Given the description of an element on the screen output the (x, y) to click on. 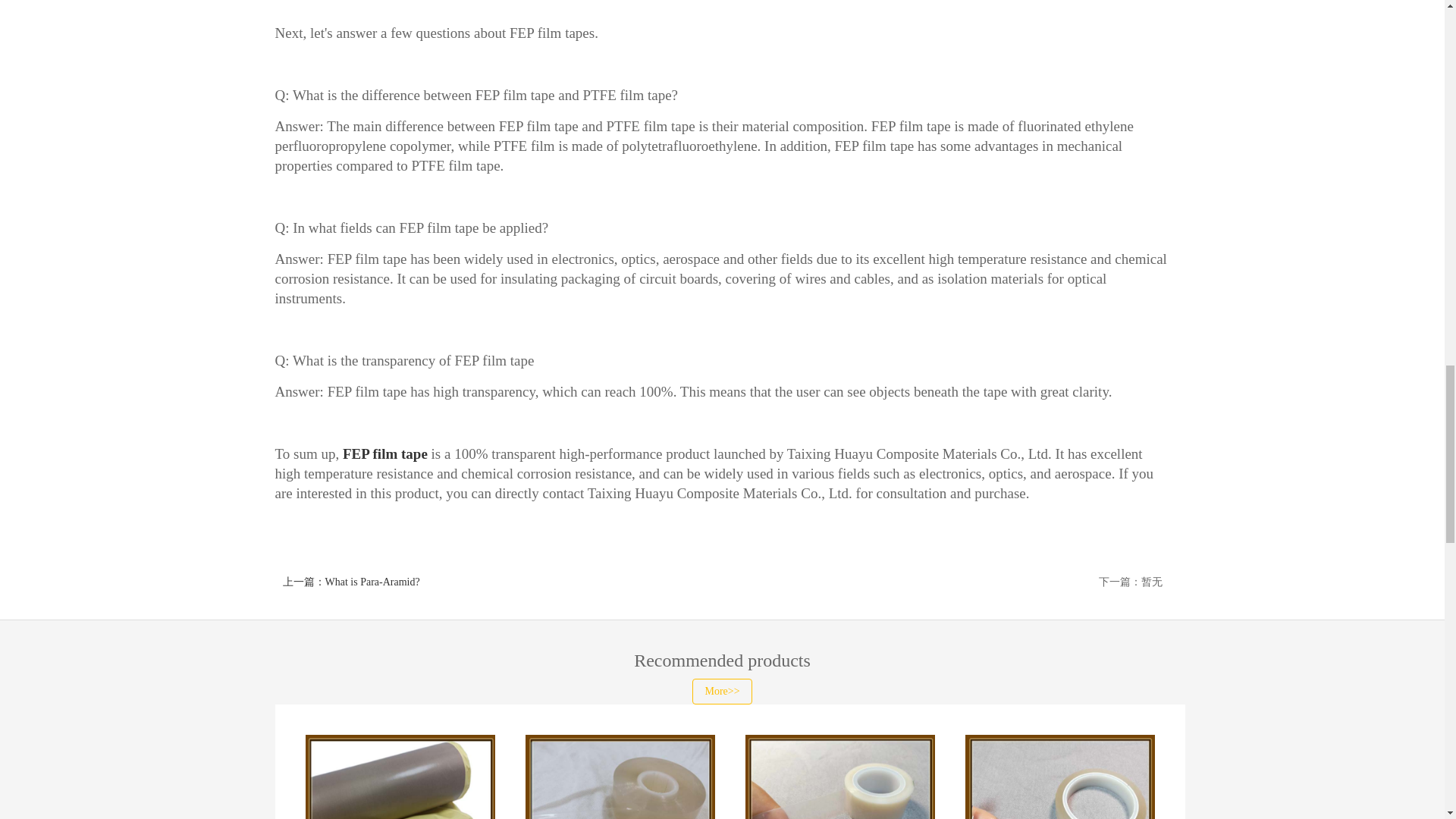
FEP TAPE (385, 453)
FEP film tape (385, 453)
What is Para-Aramid? (350, 582)
